Given the description of an element on the screen output the (x, y) to click on. 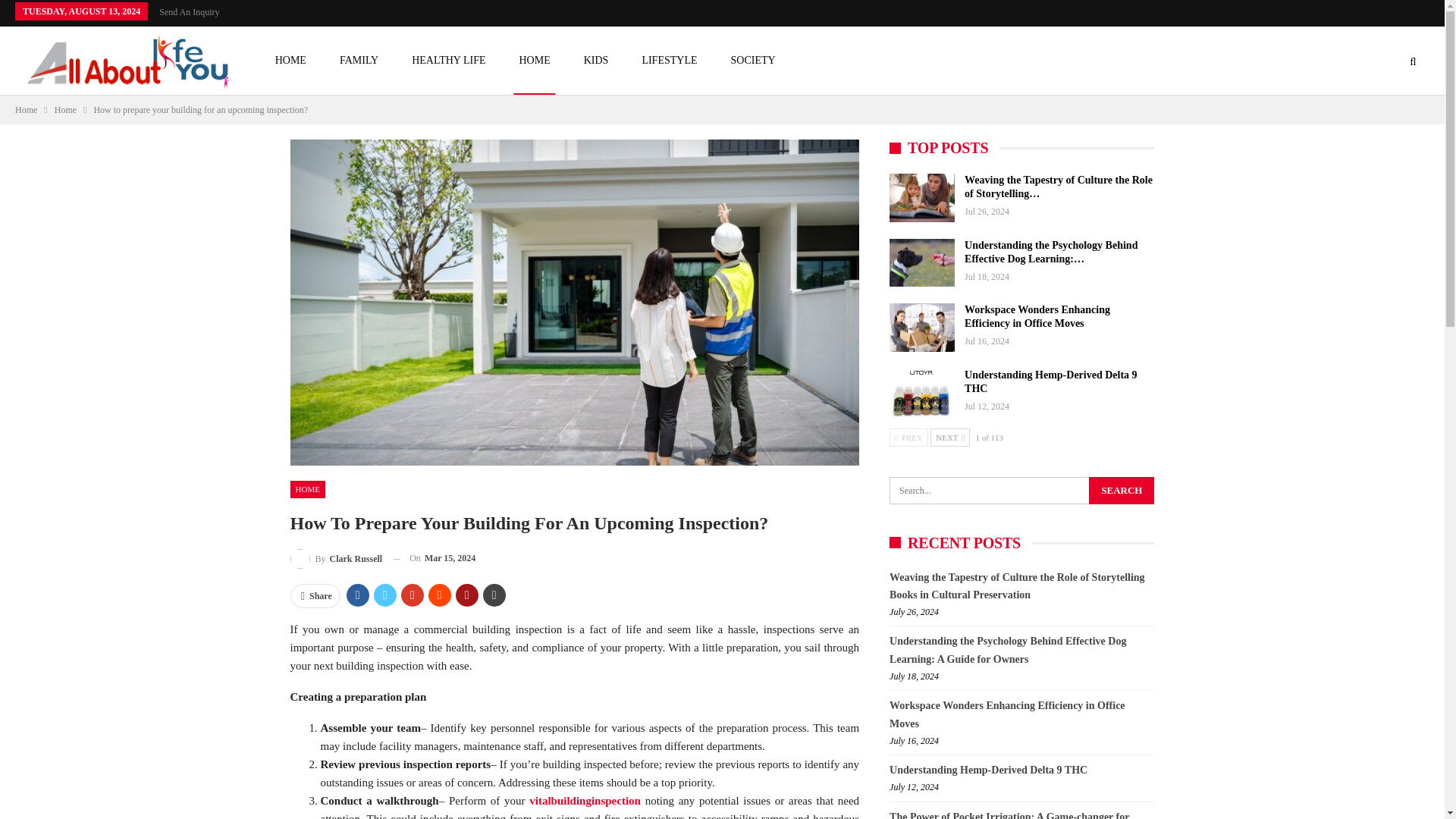
By Clark Russell (335, 557)
Home (66, 109)
LIFESTYLE (668, 60)
HEALTHY LIFE (448, 60)
HOME (306, 488)
Home (25, 109)
Search (1121, 489)
vitalbuildinginspection (584, 800)
